Given the description of an element on the screen output the (x, y) to click on. 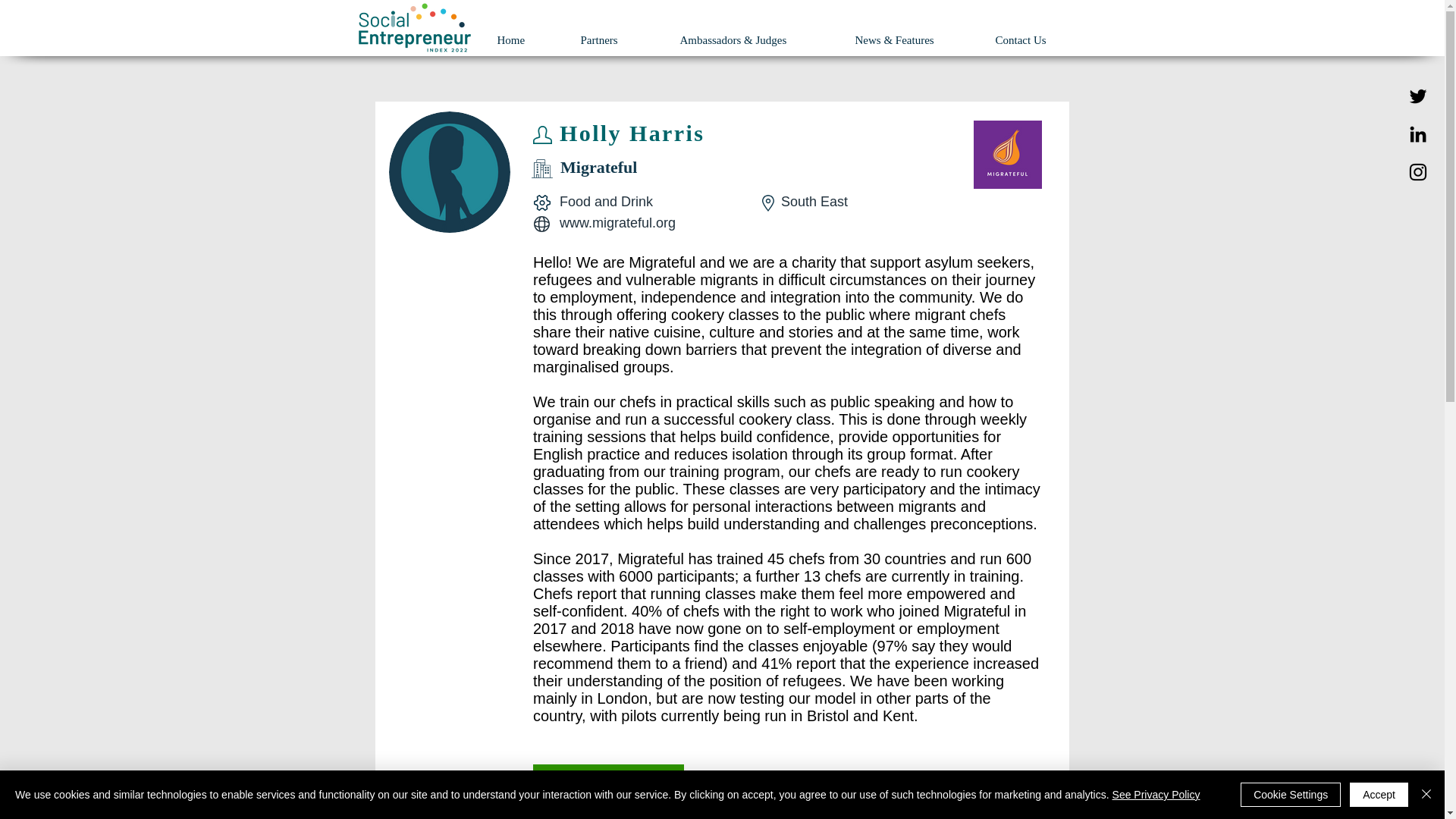
Accept (1378, 794)
Migrateful Web logo.png (1008, 154)
Cookie Settings (1290, 794)
Back to Index (608, 779)
See Privacy Policy (1155, 794)
Contact Us (1039, 39)
Partners (618, 39)
www.migrateful.org (617, 222)
Home (526, 39)
female-silhouette.png (449, 171)
